Given the description of an element on the screen output the (x, y) to click on. 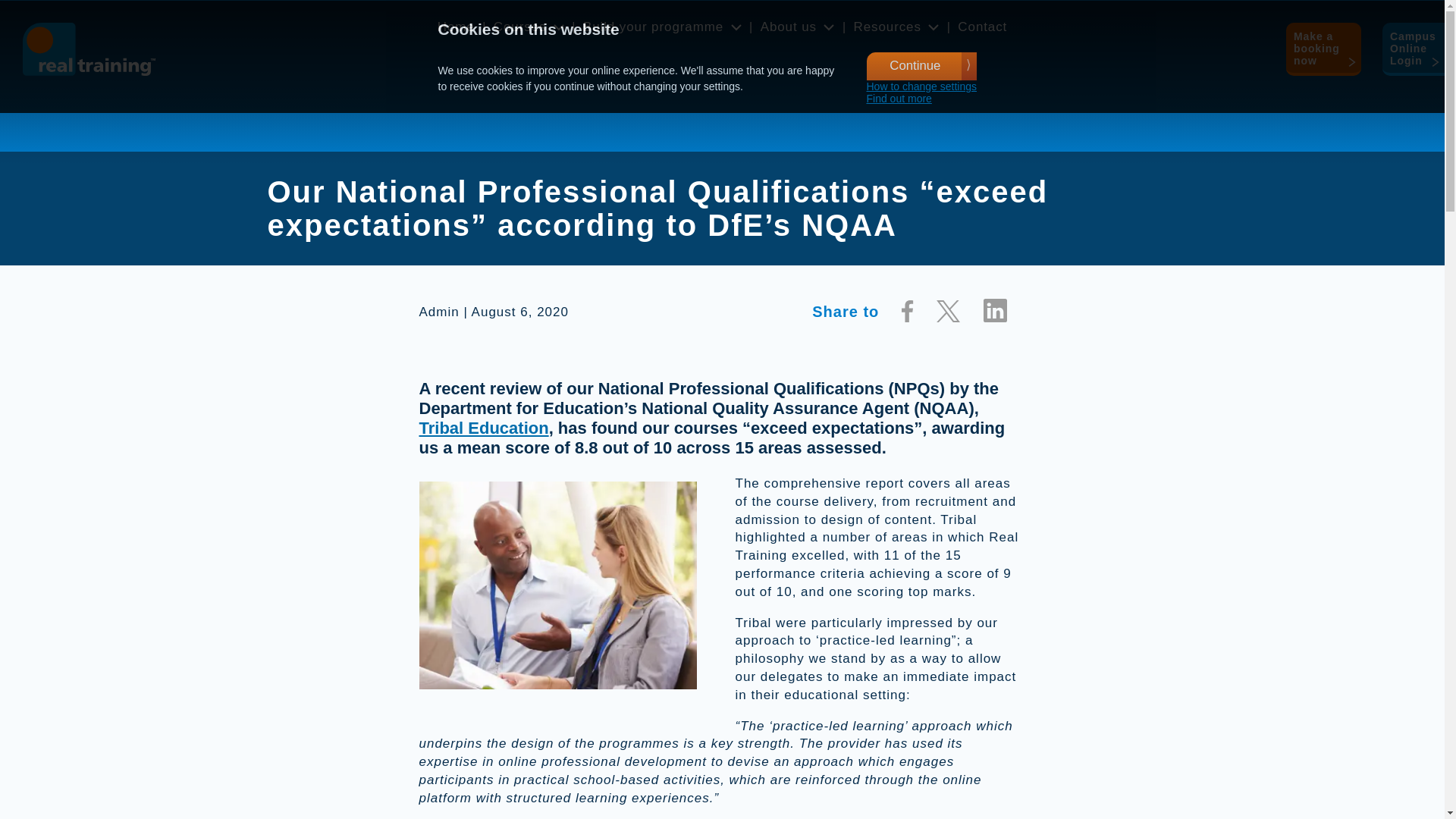
How to change settings (921, 86)
Continue (921, 66)
Home (456, 26)
Find out more (898, 98)
Share this post on X (948, 312)
Courses (520, 26)
